Given the description of an element on the screen output the (x, y) to click on. 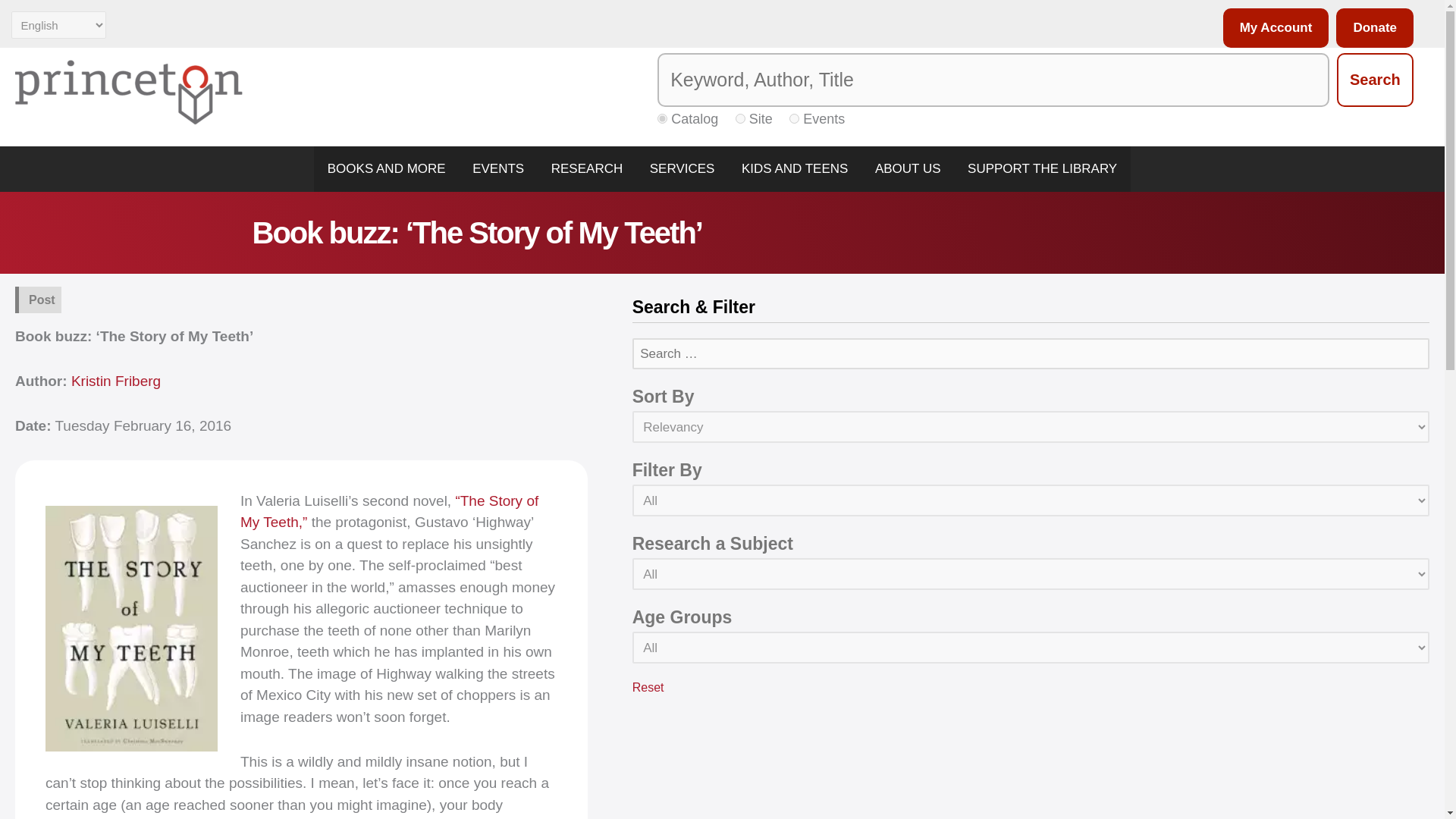
KIDS AND TEENS (794, 168)
events (794, 118)
SERVICES (682, 168)
ABOUT US (907, 168)
Kristin Friberg (115, 381)
SUPPORT THE LIBRARY (1042, 168)
Reset (647, 686)
Donate (1371, 27)
Search (1374, 80)
catalog (662, 118)
